Given the description of an element on the screen output the (x, y) to click on. 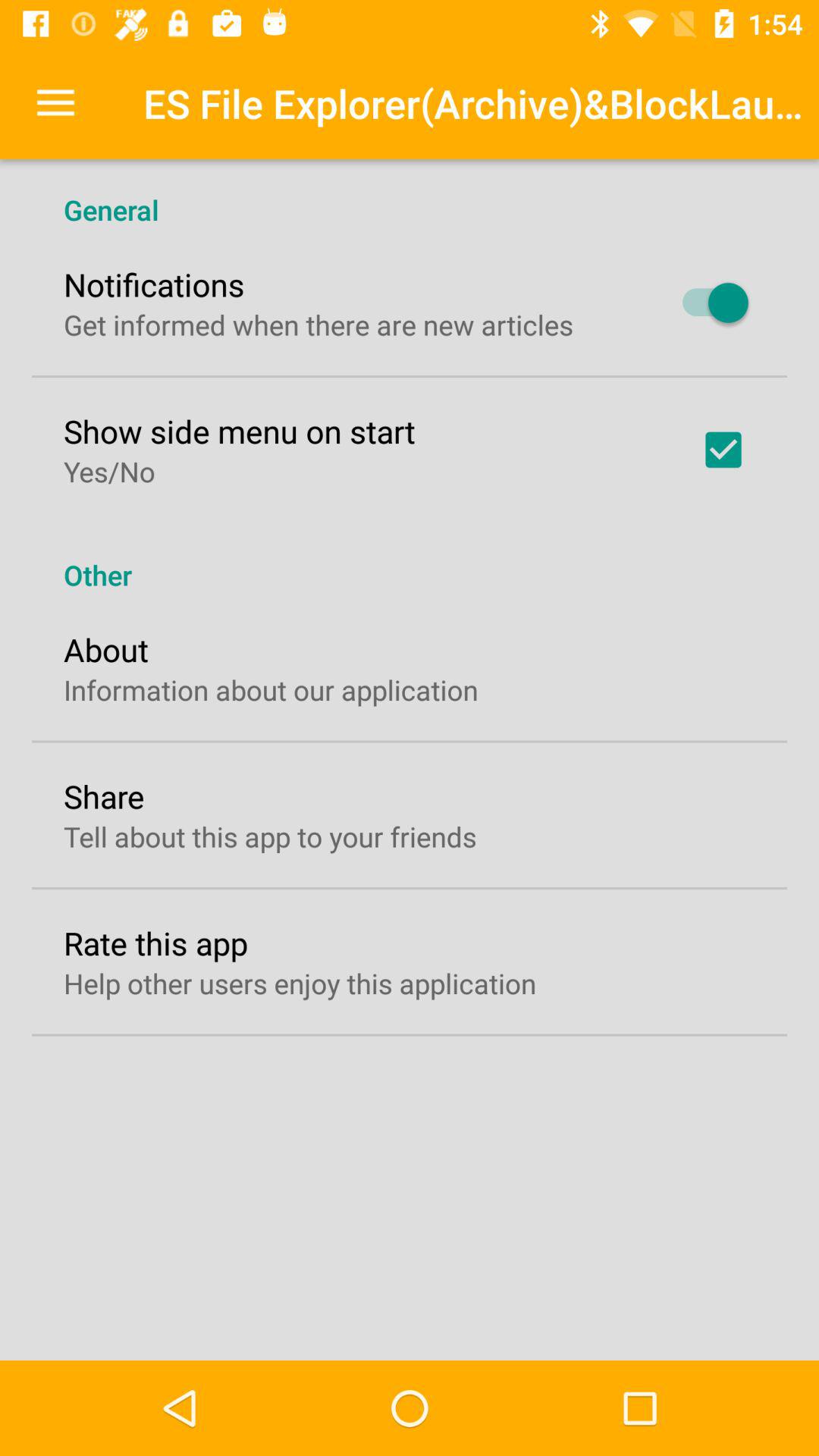
tap the item next to get informed when item (707, 302)
